Given the description of an element on the screen output the (x, y) to click on. 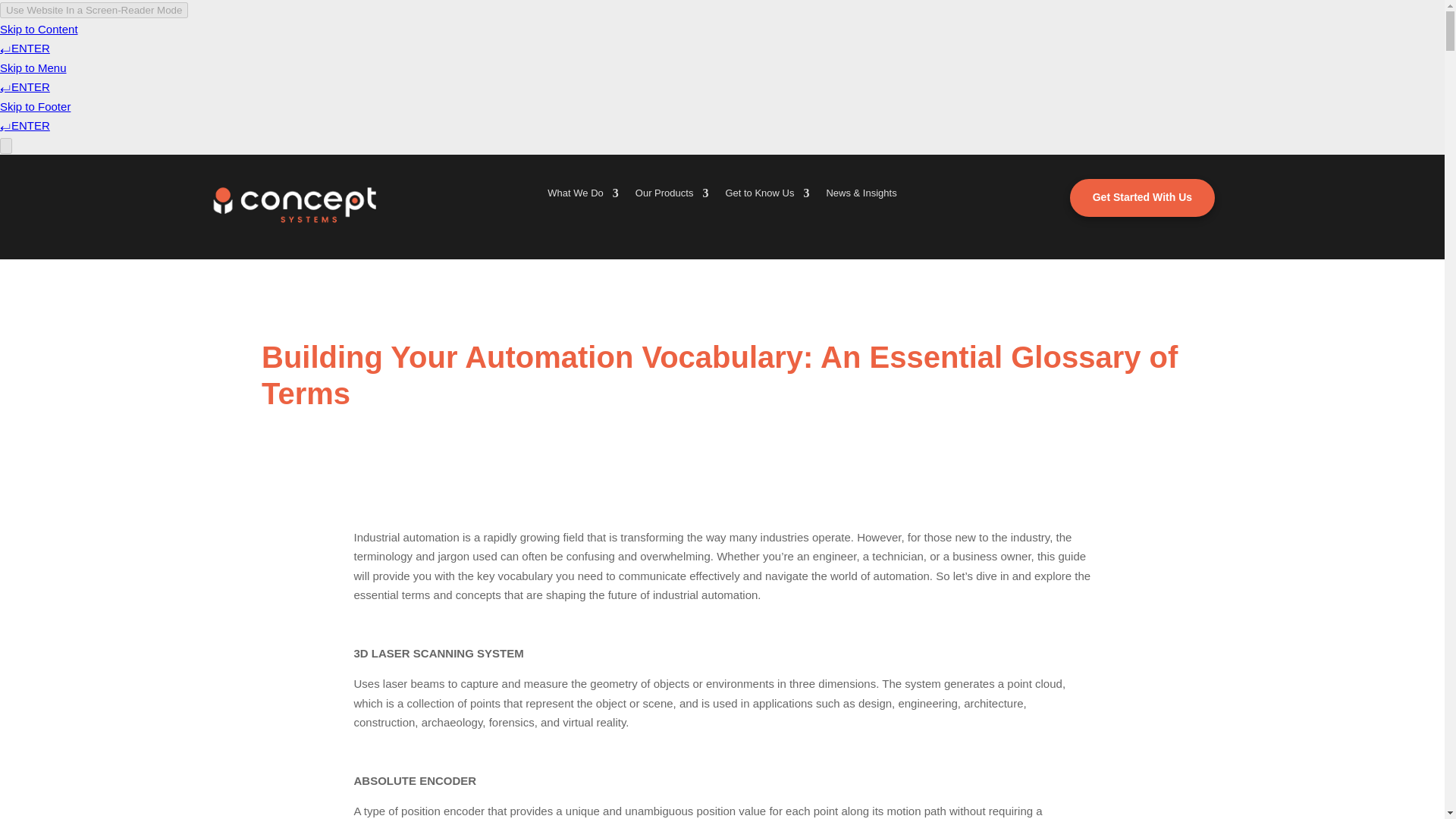
New logo (295, 204)
Our Products (671, 196)
What We Do (582, 196)
Get to Know Us (767, 196)
Get Started With Us (1142, 198)
